Given the description of an element on the screen output the (x, y) to click on. 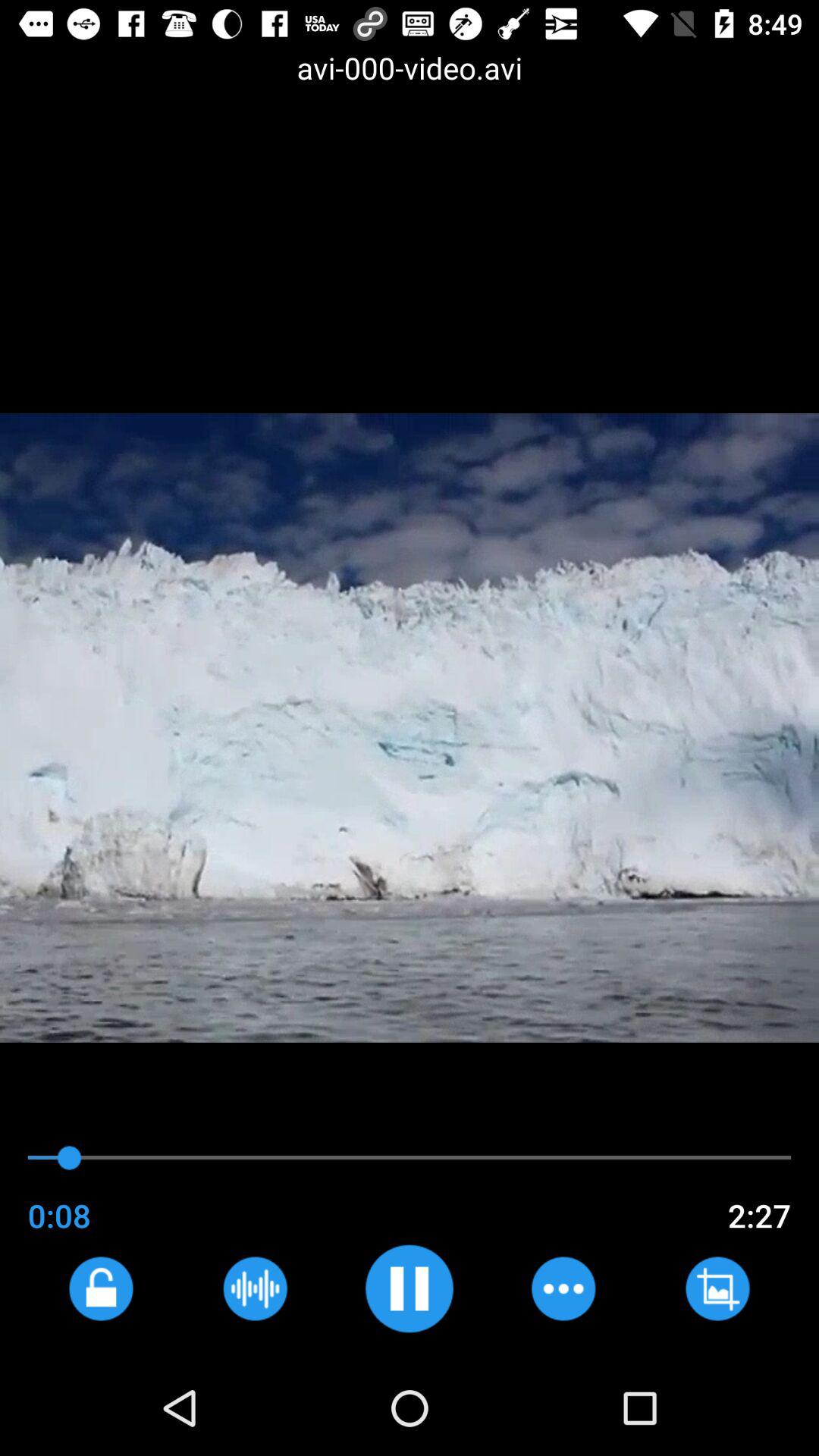
crop image option (717, 1288)
